Given the description of an element on the screen output the (x, y) to click on. 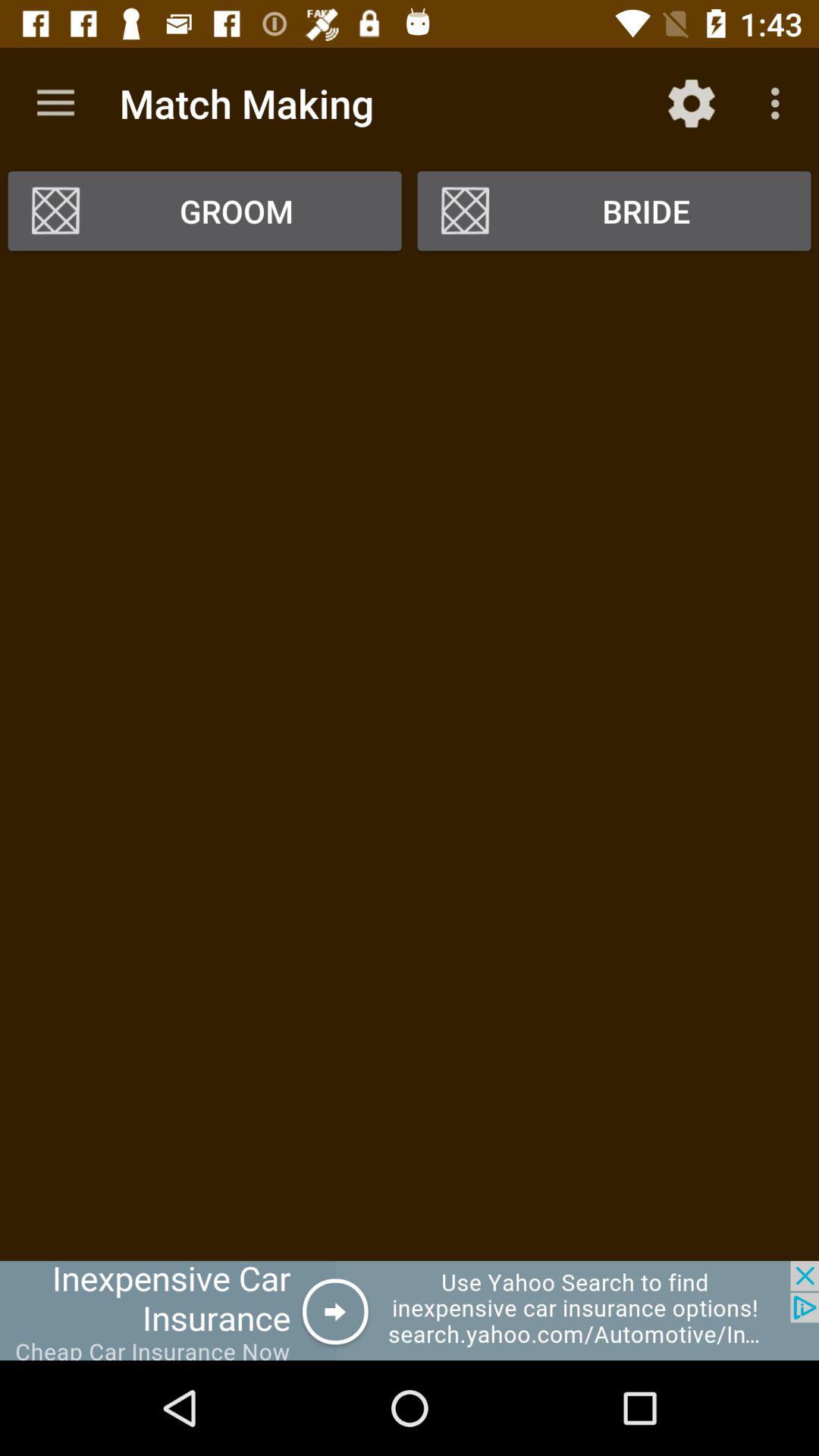
descroption (409, 761)
